Given the description of an element on the screen output the (x, y) to click on. 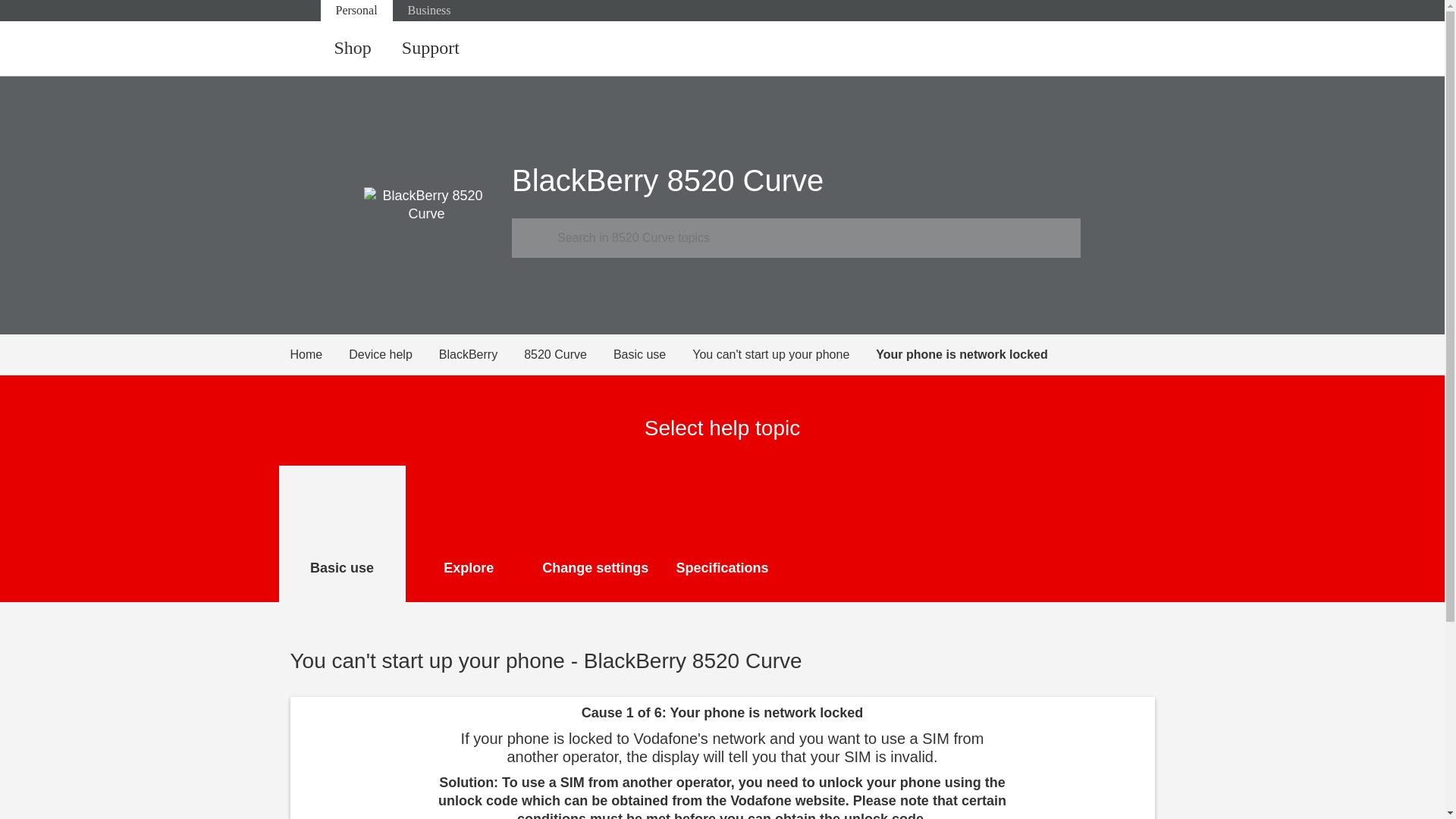
Menu (1139, 48)
Basic use (652, 354)
My Vodafone (1079, 48)
Home (319, 354)
Business (429, 10)
8520 Curve (568, 354)
Support (430, 48)
Shop (351, 48)
BlackBerry (481, 354)
Device help (394, 354)
